Given the description of an element on the screen output the (x, y) to click on. 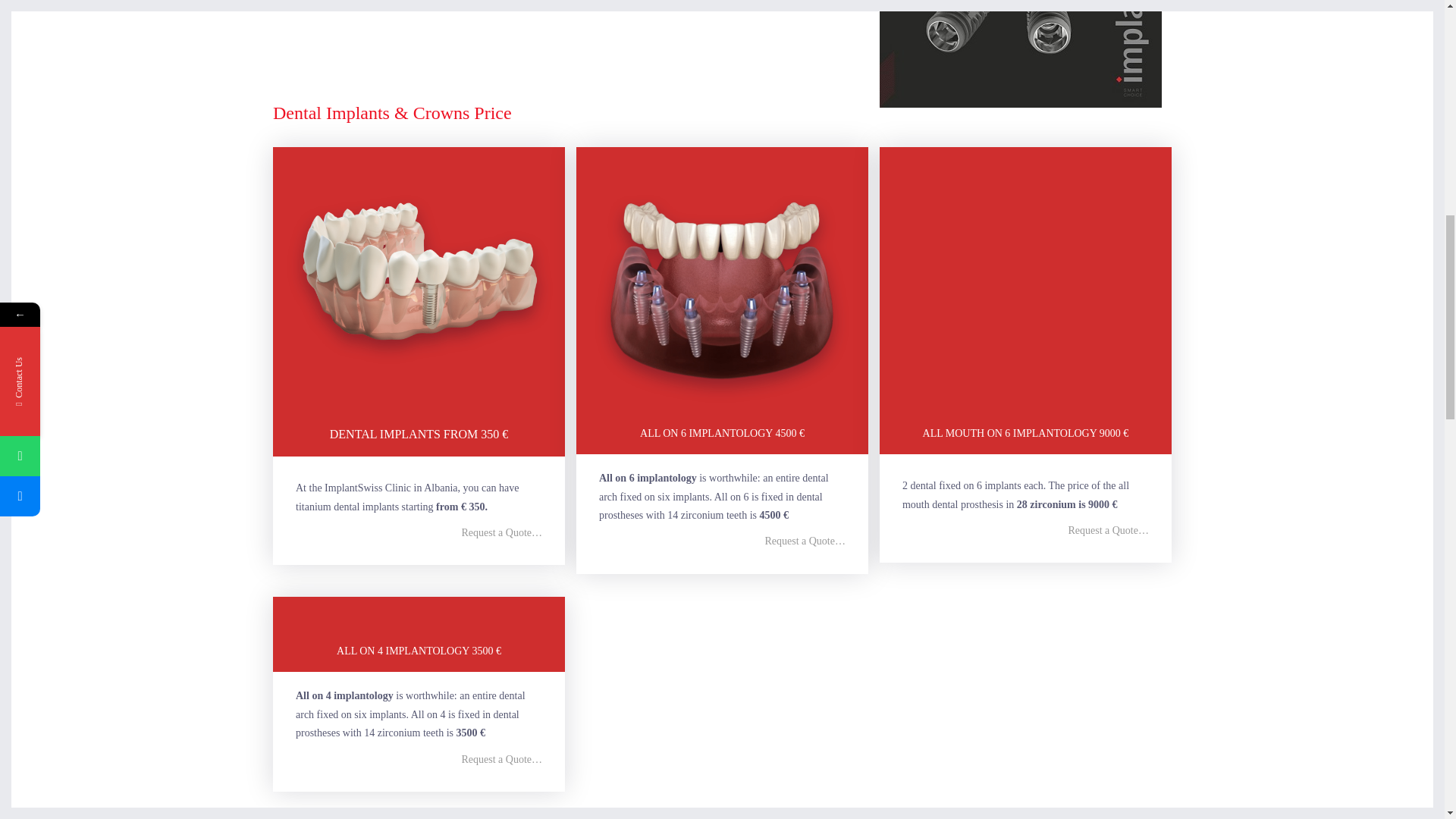
impinanti-dentali-in-tirana-albania (1020, 53)
